Given the description of an element on the screen output the (x, y) to click on. 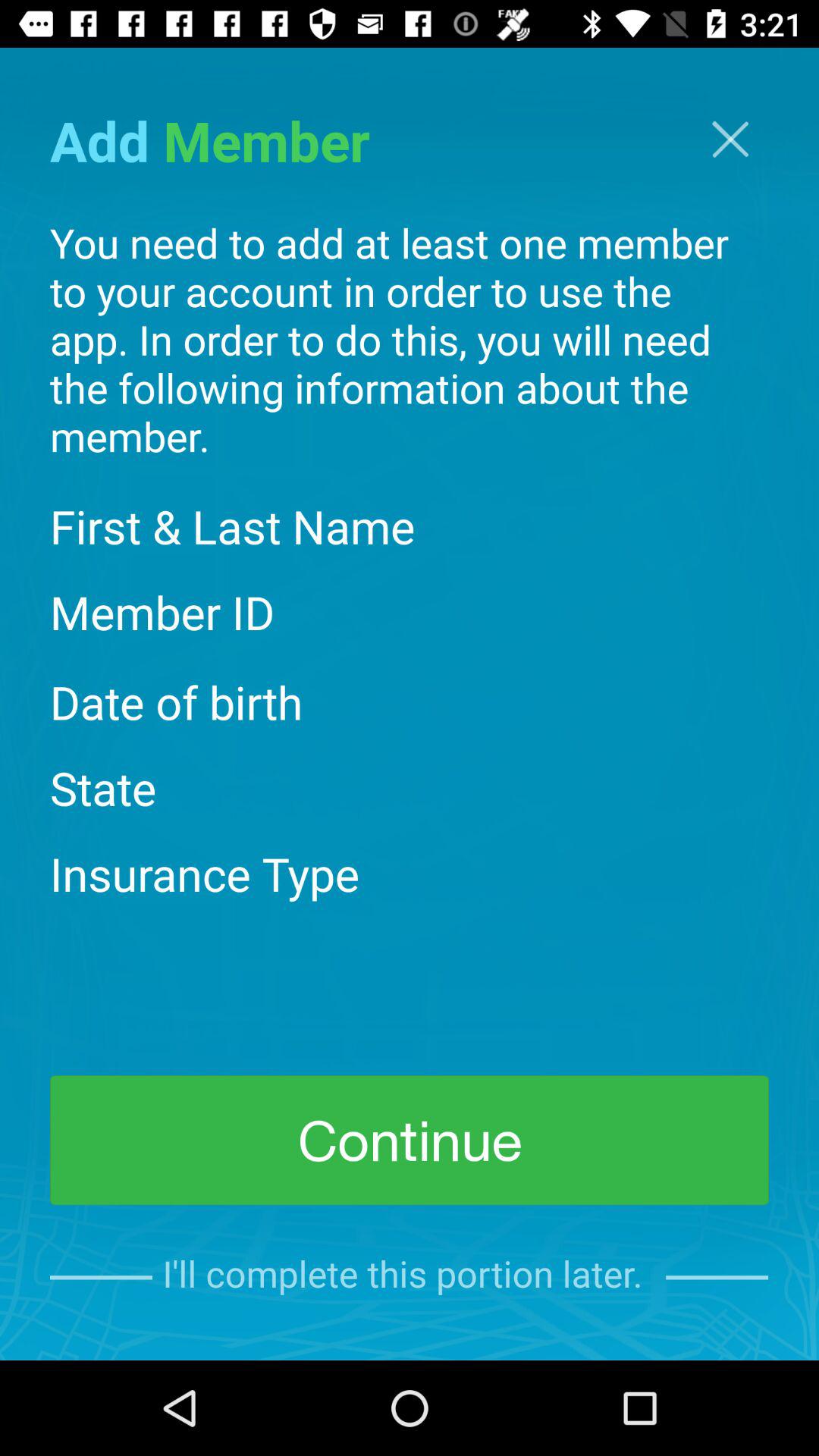
open the continue item (409, 1140)
